Given the description of an element on the screen output the (x, y) to click on. 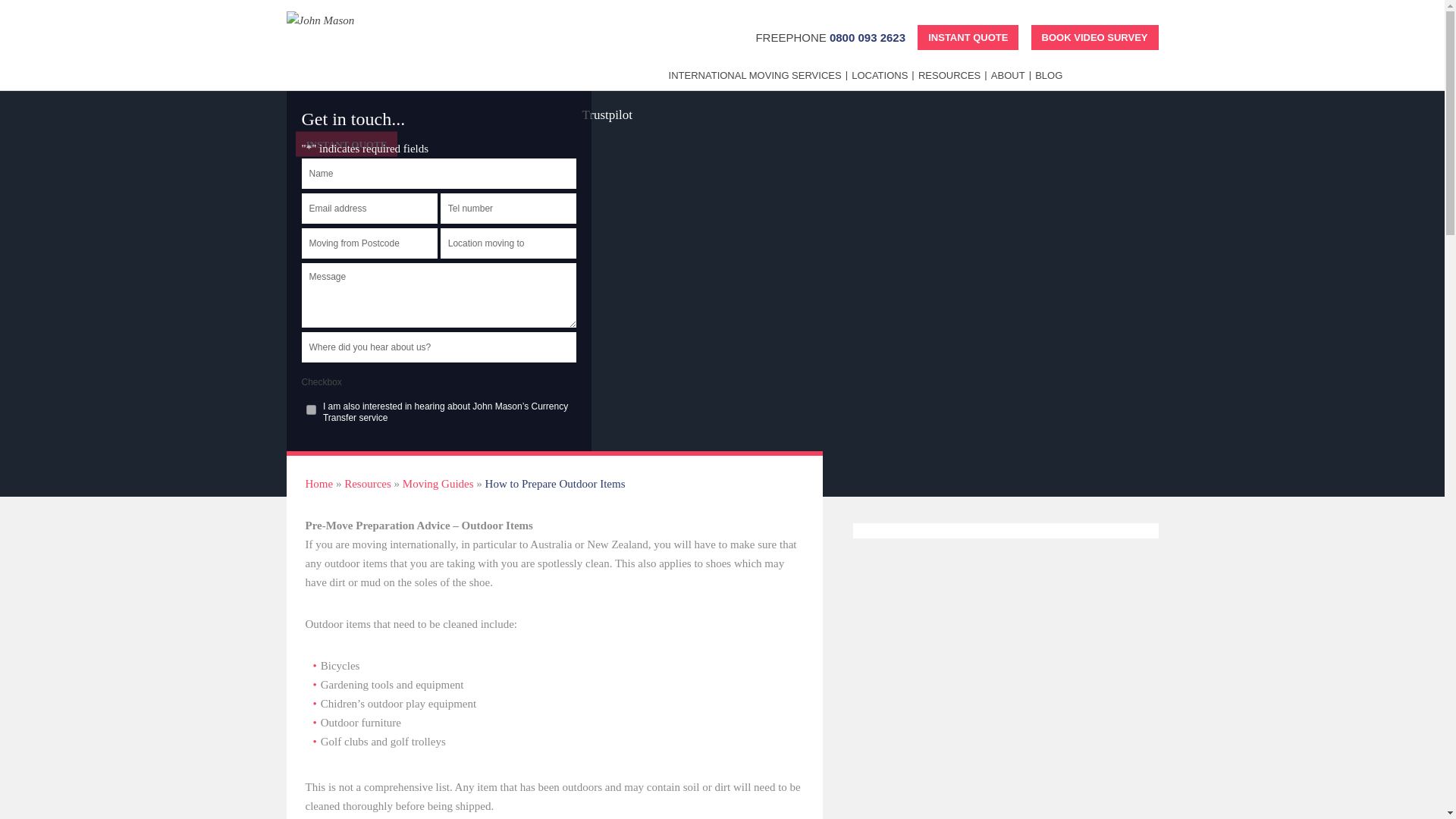
Go to John Mason. (318, 483)
LOCATIONS (883, 81)
INTERNATIONAL MOVING SERVICES (758, 81)
BOOK VIDEO SURVEY (1094, 37)
Go to Moving Guides. (438, 483)
0800 093 2623 (867, 37)
INSTANT QUOTE (967, 37)
Get in touch (515, 503)
Go to Resources. (367, 483)
